Given the description of an element on the screen output the (x, y) to click on. 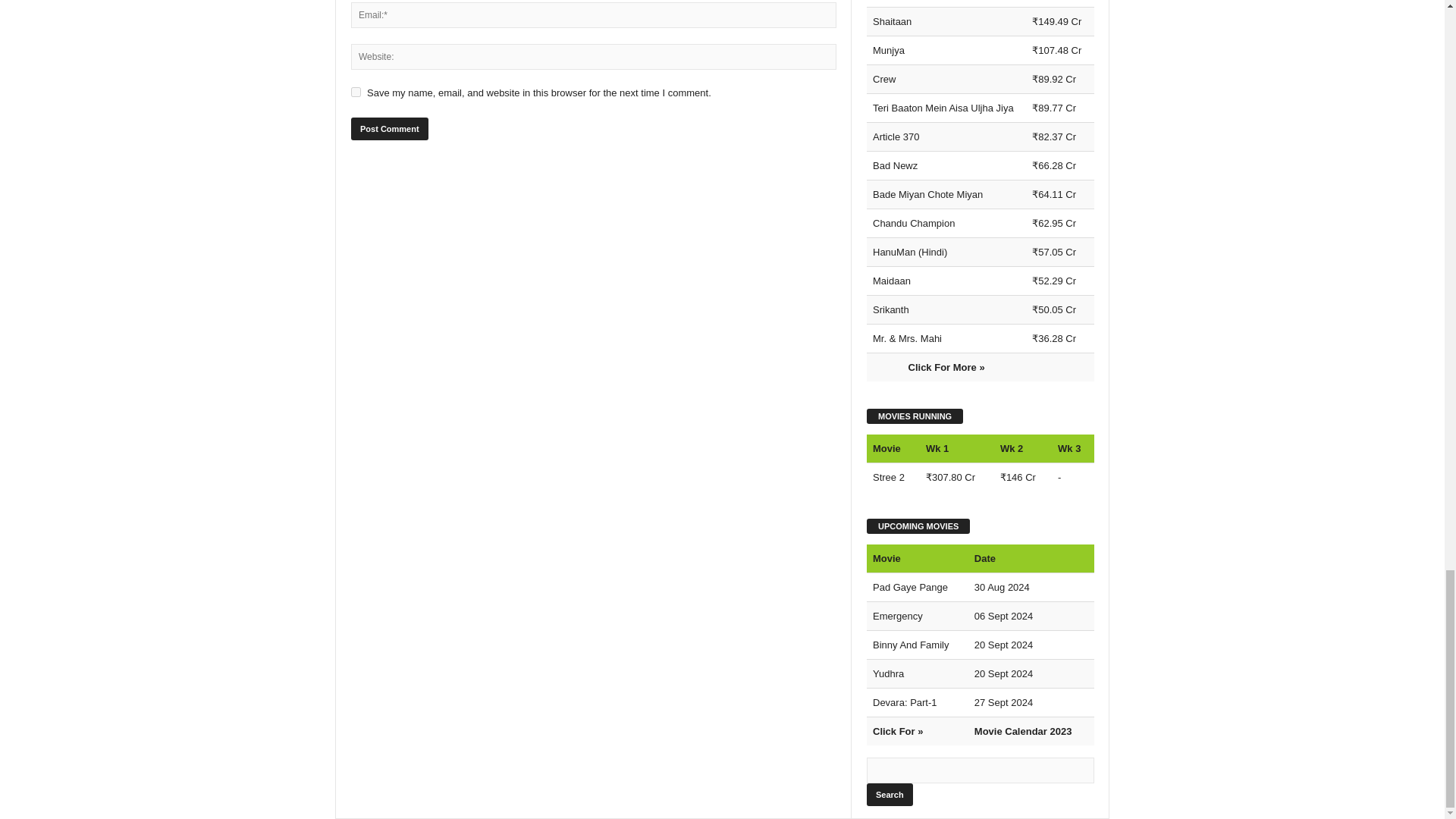
Search (889, 793)
yes (355, 91)
Post Comment (389, 128)
